Given the description of an element on the screen output the (x, y) to click on. 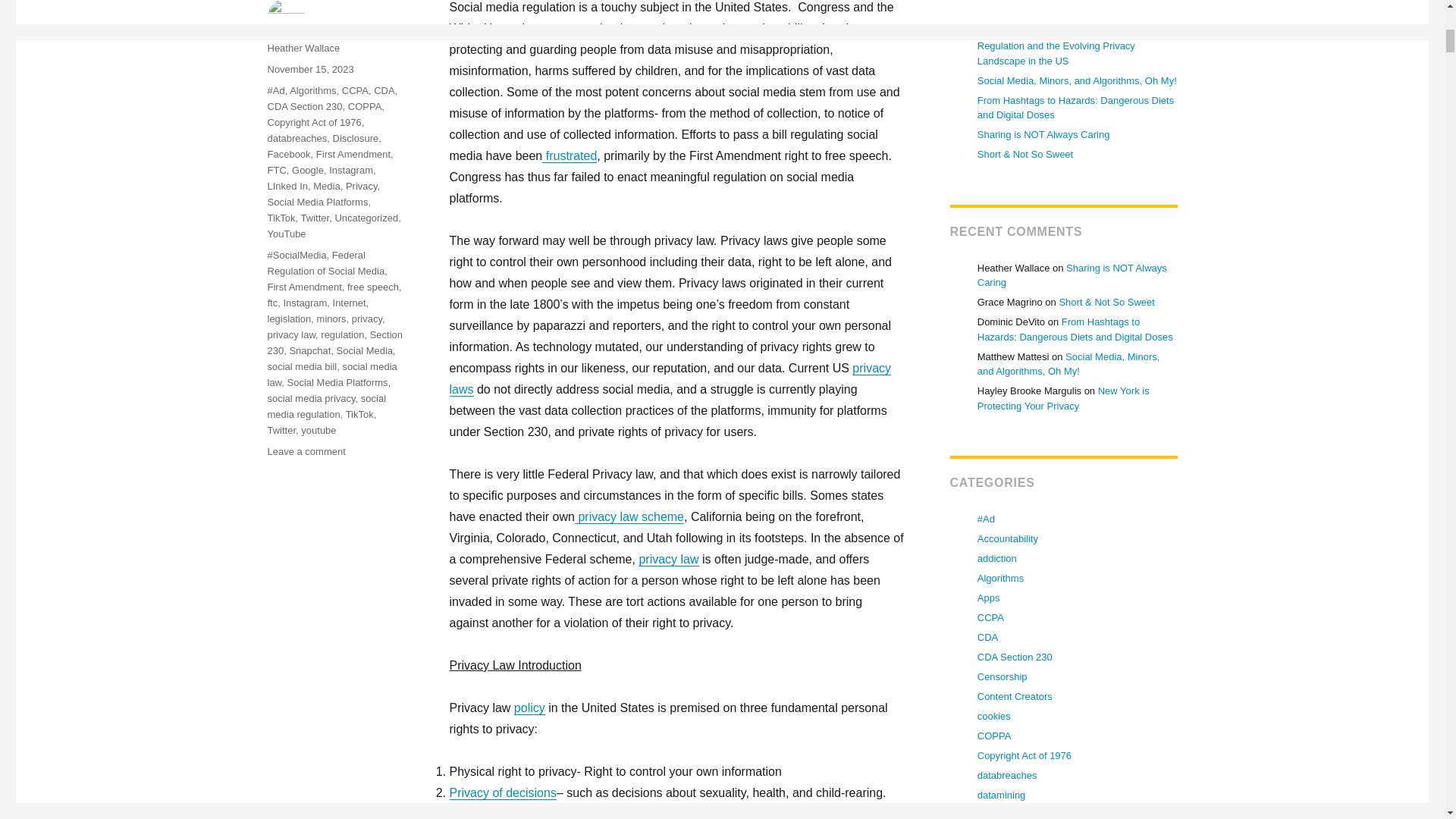
policy (528, 707)
frustrated (568, 155)
privacy laws (669, 378)
Algorithms (312, 90)
Privacy of decisions (502, 792)
Heather Wallace (302, 48)
November 15, 2023 (309, 69)
privacy law scheme (629, 516)
CCPA (355, 90)
privacy law (668, 558)
CDA (384, 90)
